Given the description of an element on the screen output the (x, y) to click on. 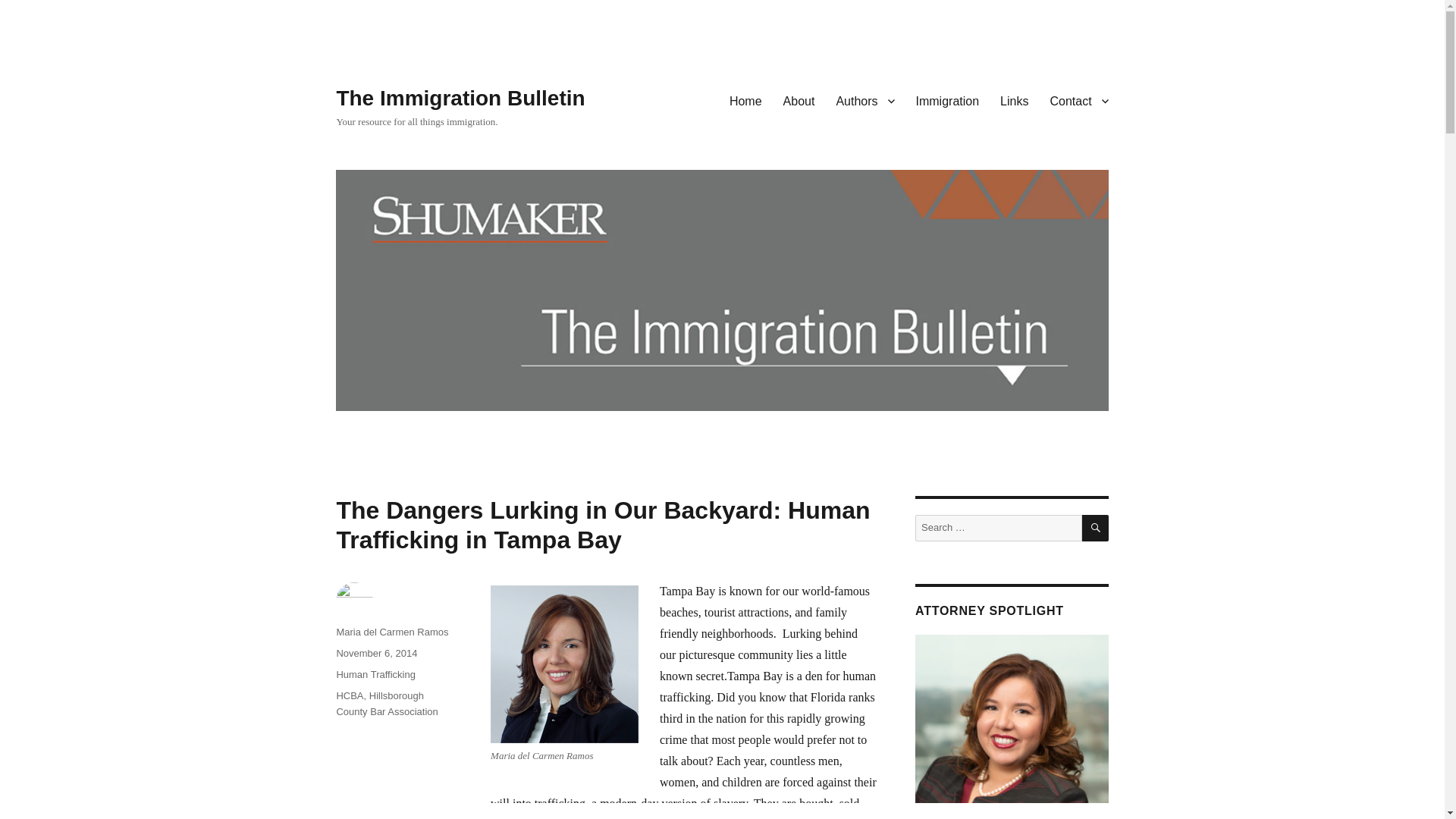
Links (1014, 101)
Maria del Carmen Ramos (392, 632)
The Immigration Bulletin (460, 97)
Human Trafficking (375, 674)
Contact (1078, 101)
About (799, 101)
Immigration (947, 101)
Authors (864, 101)
November 6, 2014 (376, 653)
HCBA (349, 695)
Hillsborough County Bar Association (387, 703)
Home (746, 101)
